Given the description of an element on the screen output the (x, y) to click on. 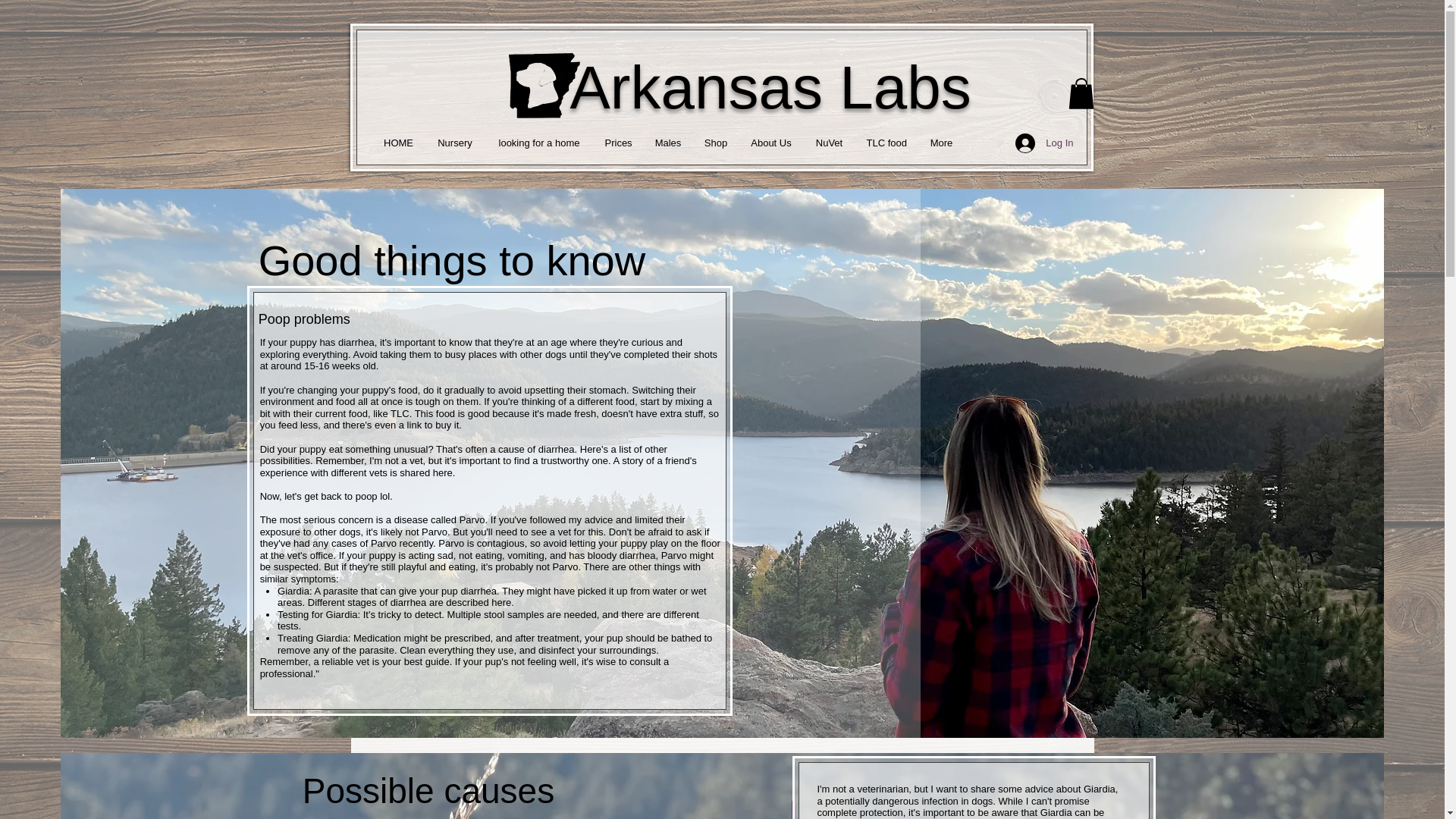
About Us (770, 143)
Shop (716, 143)
TLC food (887, 143)
Arkansas Labs (770, 87)
Males (668, 143)
looking for a home (539, 143)
Prices (617, 143)
Log In (1043, 143)
HOME (398, 143)
NuVet (829, 143)
Nursery (454, 143)
